Given the description of an element on the screen output the (x, y) to click on. 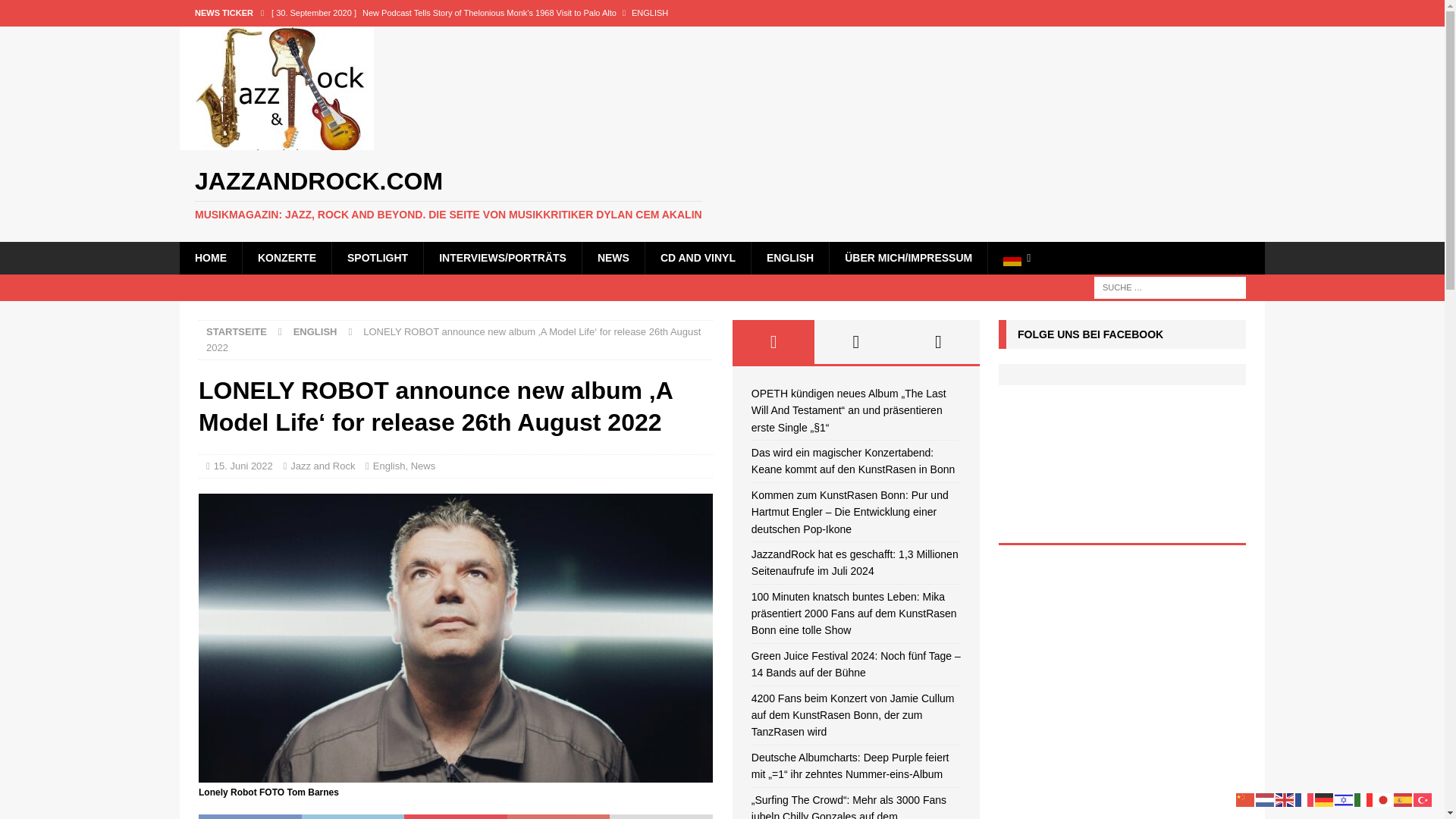
KONZERTE (286, 257)
HOME (210, 257)
ENGLISH (789, 257)
jazzandrock.com (276, 141)
CD AND VINYL (698, 257)
SPOTLIGHT (377, 257)
jazzandrock.com (722, 194)
NEWS (612, 257)
